Given the description of an element on the screen output the (x, y) to click on. 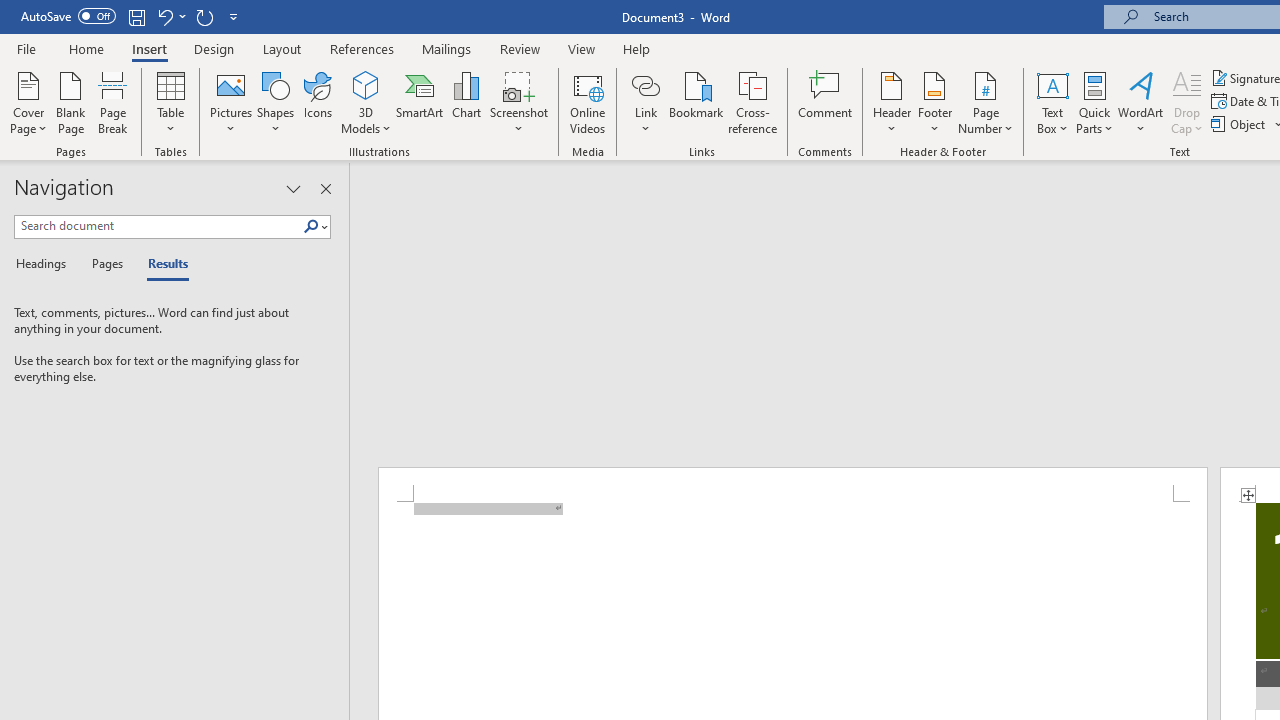
Link (645, 84)
Search document (157, 226)
Bookmark... (695, 102)
Undo New Page (170, 15)
Headings (45, 264)
Cover Page (28, 102)
Customize Quick Access Toolbar (234, 15)
Page Number (986, 102)
File Tab (26, 48)
View (582, 48)
Icons (317, 102)
Help (637, 48)
Close pane (325, 188)
Insert (149, 48)
3D Models (366, 84)
